Given the description of an element on the screen output the (x, y) to click on. 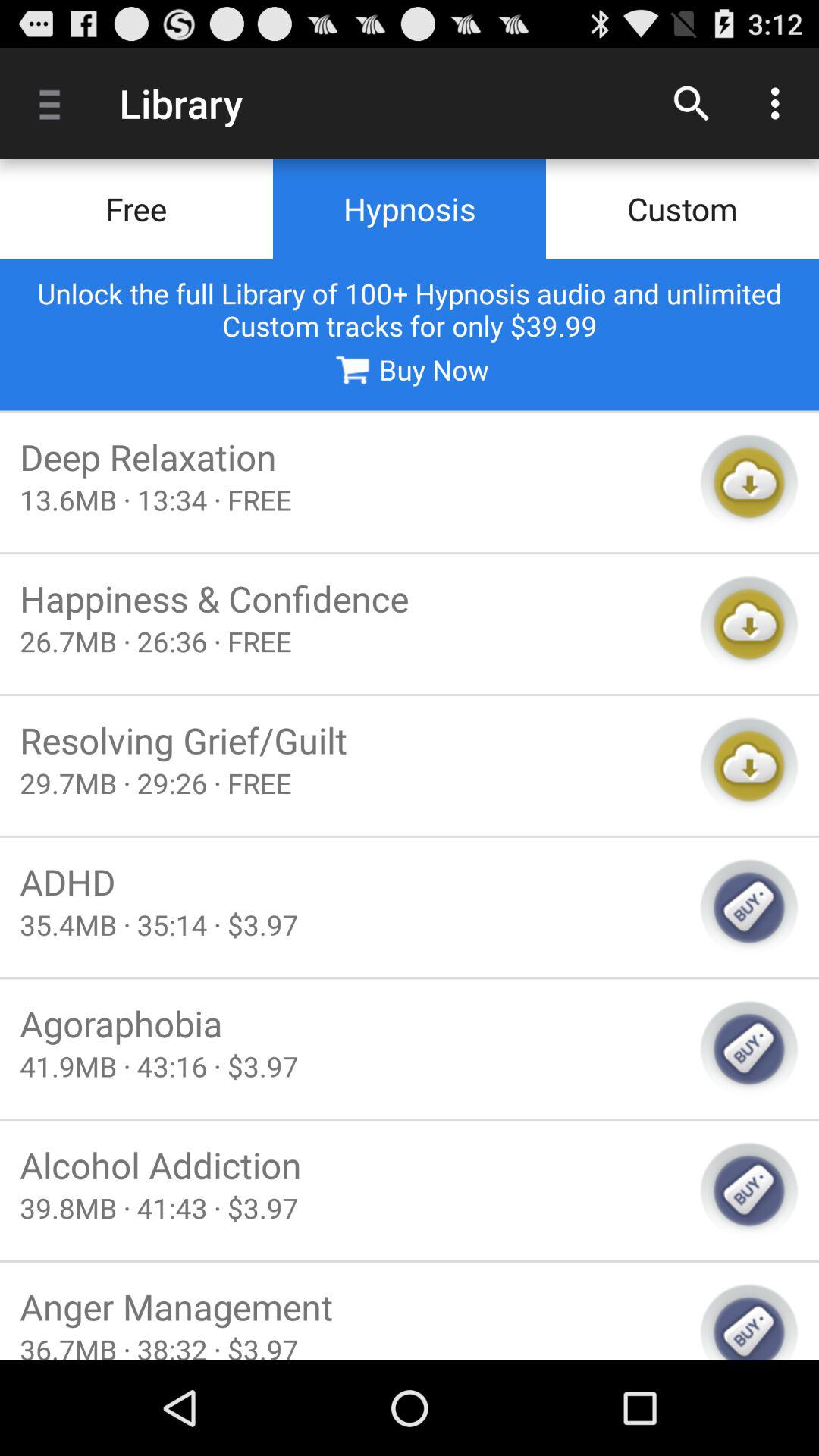
buy track (749, 1190)
